Given the description of an element on the screen output the (x, y) to click on. 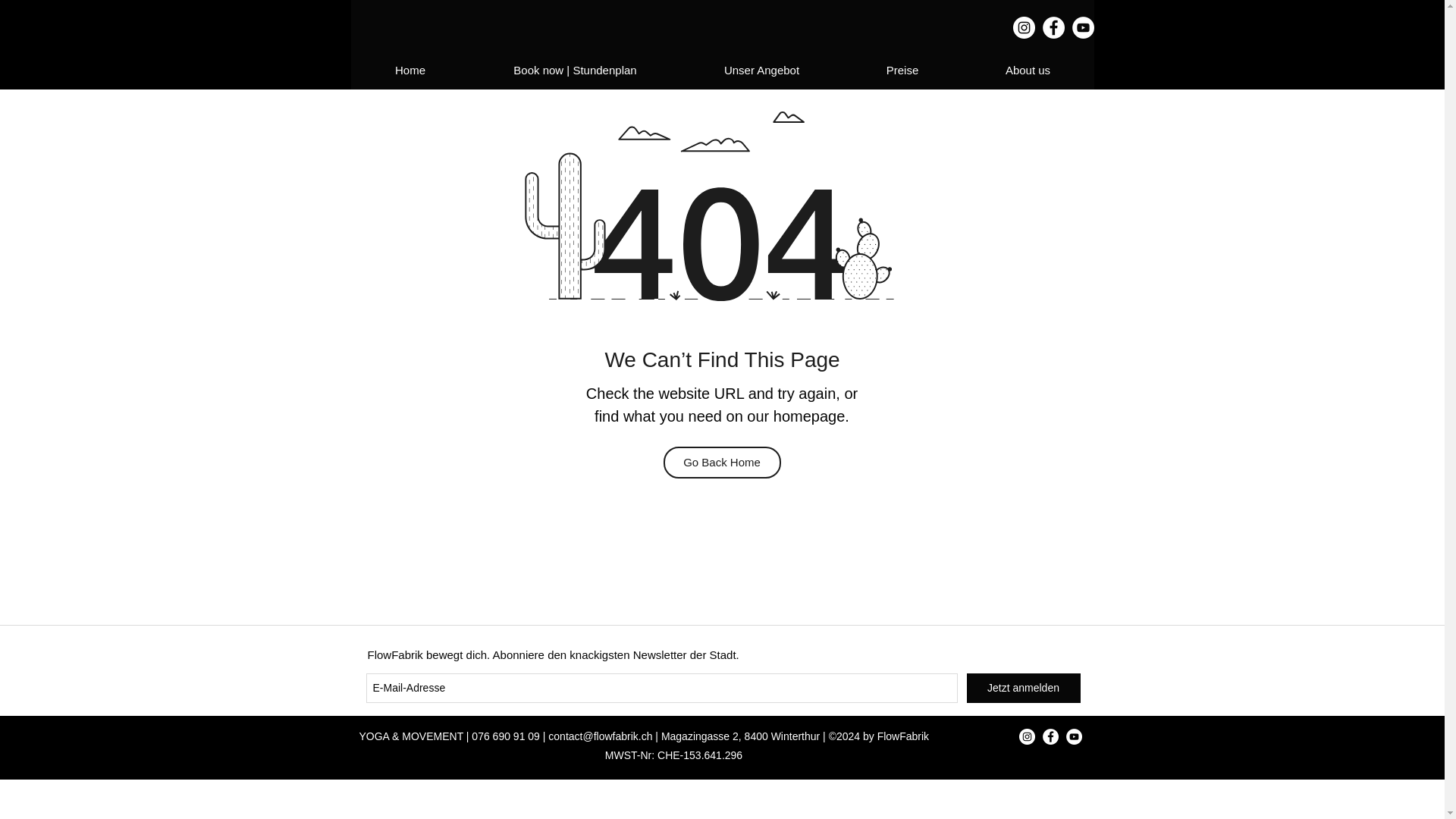
Home (409, 70)
Preise (901, 70)
Go Back Home (721, 462)
Jetzt anmelden (1023, 687)
